Given the description of an element on the screen output the (x, y) to click on. 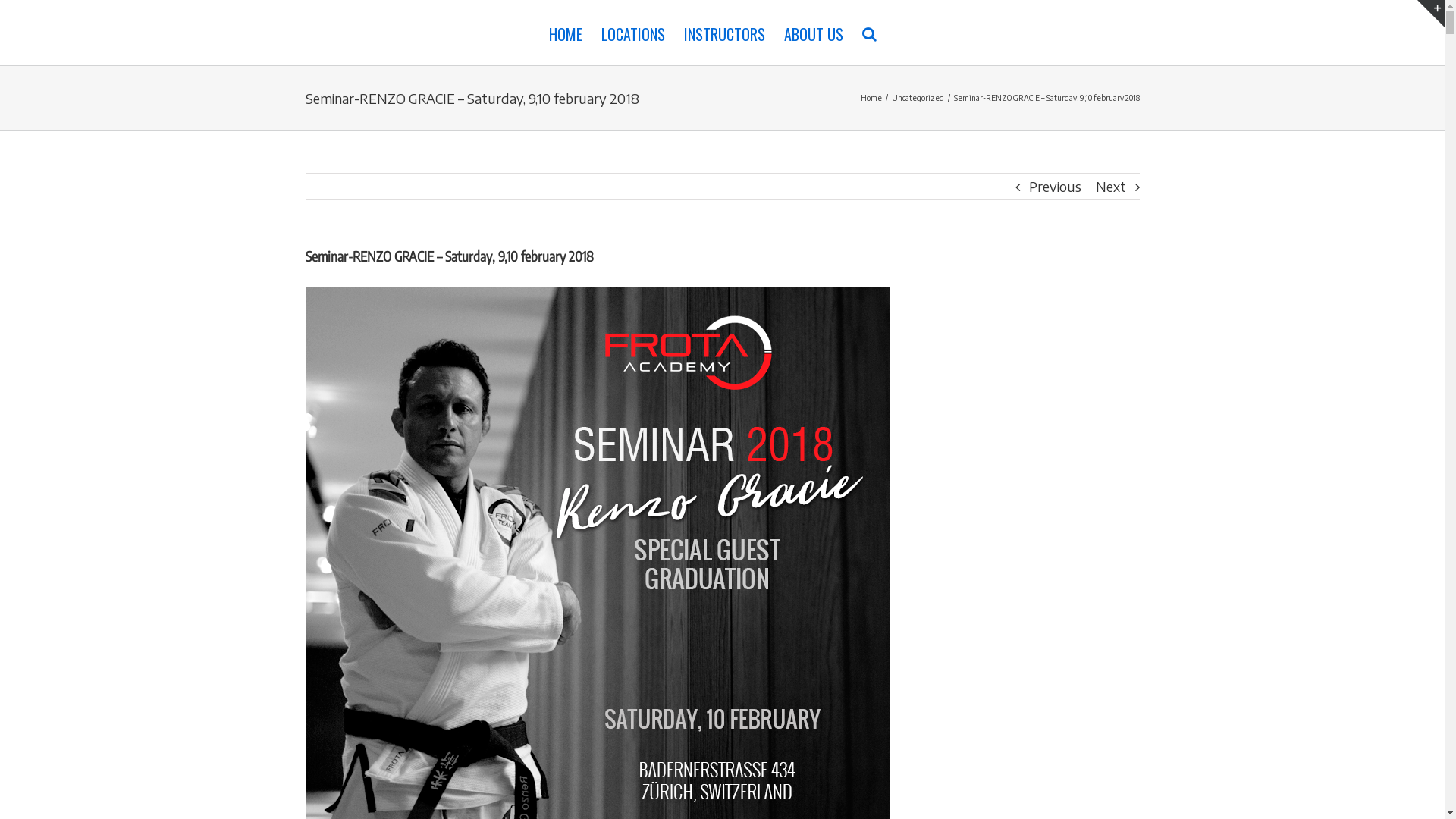
Home Element type: text (870, 97)
INSTRUCTORS Element type: text (724, 32)
Uncategorized Element type: text (917, 97)
Toggle Sliding Bar Area Element type: text (1430, 13)
ABOUT US Element type: text (813, 32)
Next Element type: text (1110, 186)
Search Element type: hover (869, 32)
Previous Element type: text (1054, 186)
LOCATIONS Element type: text (633, 32)
HOME Element type: text (565, 32)
